Given the description of an element on the screen output the (x, y) to click on. 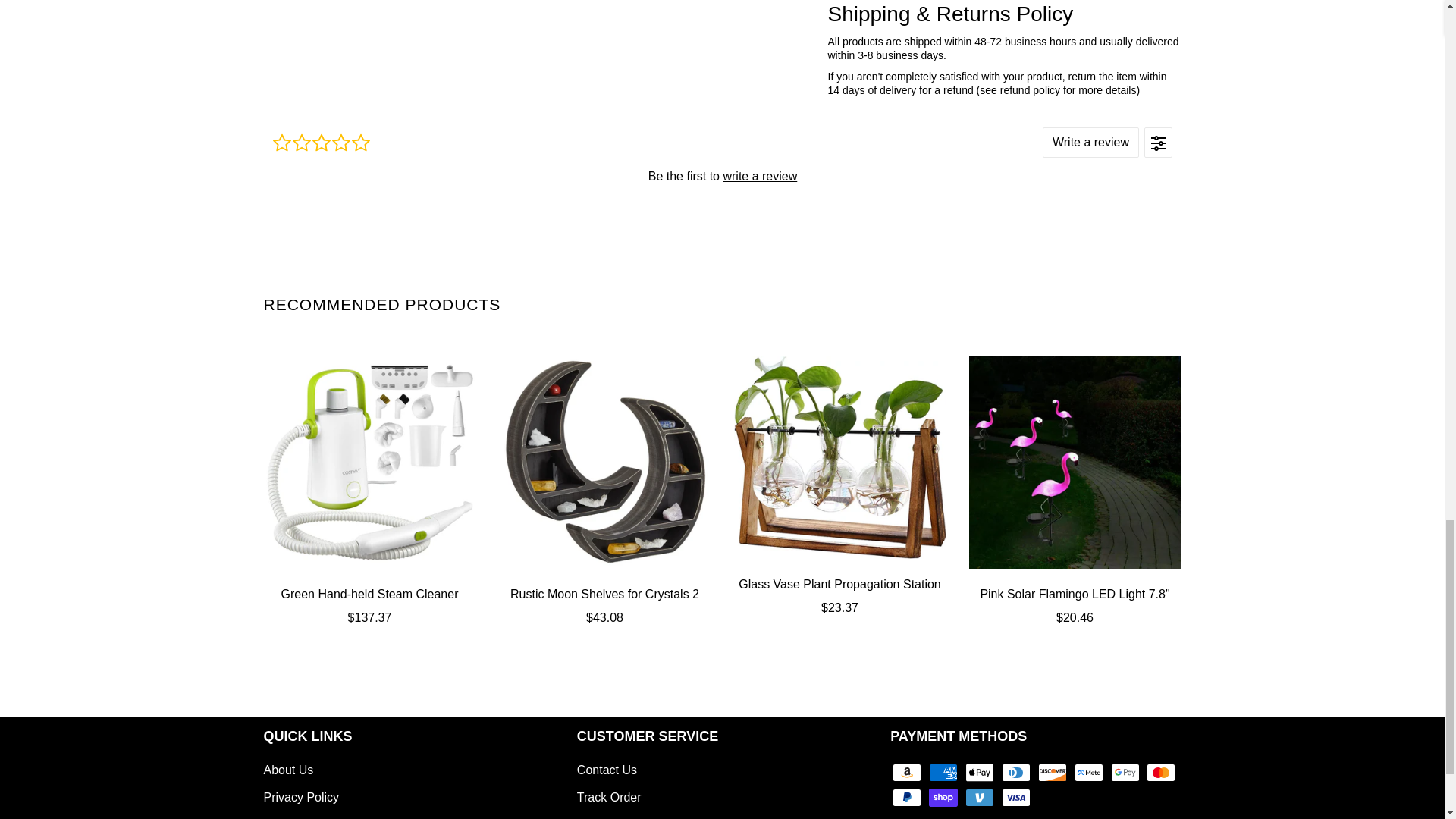
Rustic Moon Shelves for Crystals 2 Pack Wooden Display (605, 462)
Rustic Moon Shelves for Crystals 2 Pack Wooden Display (605, 605)
Glass Vase Plant Propagation Station Home and Office Decor (839, 457)
Product reviews widget (721, 175)
Green Hand-held Steam Cleaner 1000W with 10 Accessories (369, 462)
Green Hand-held Steam Cleaner 1000W with 10 Accessories (369, 605)
Glass Vase Plant Propagation Station Home and Office Decor (839, 596)
Pink Solar Flamingo LED Light 7.8" Outdoor Garden Decoration (1074, 605)
